Given the description of an element on the screen output the (x, y) to click on. 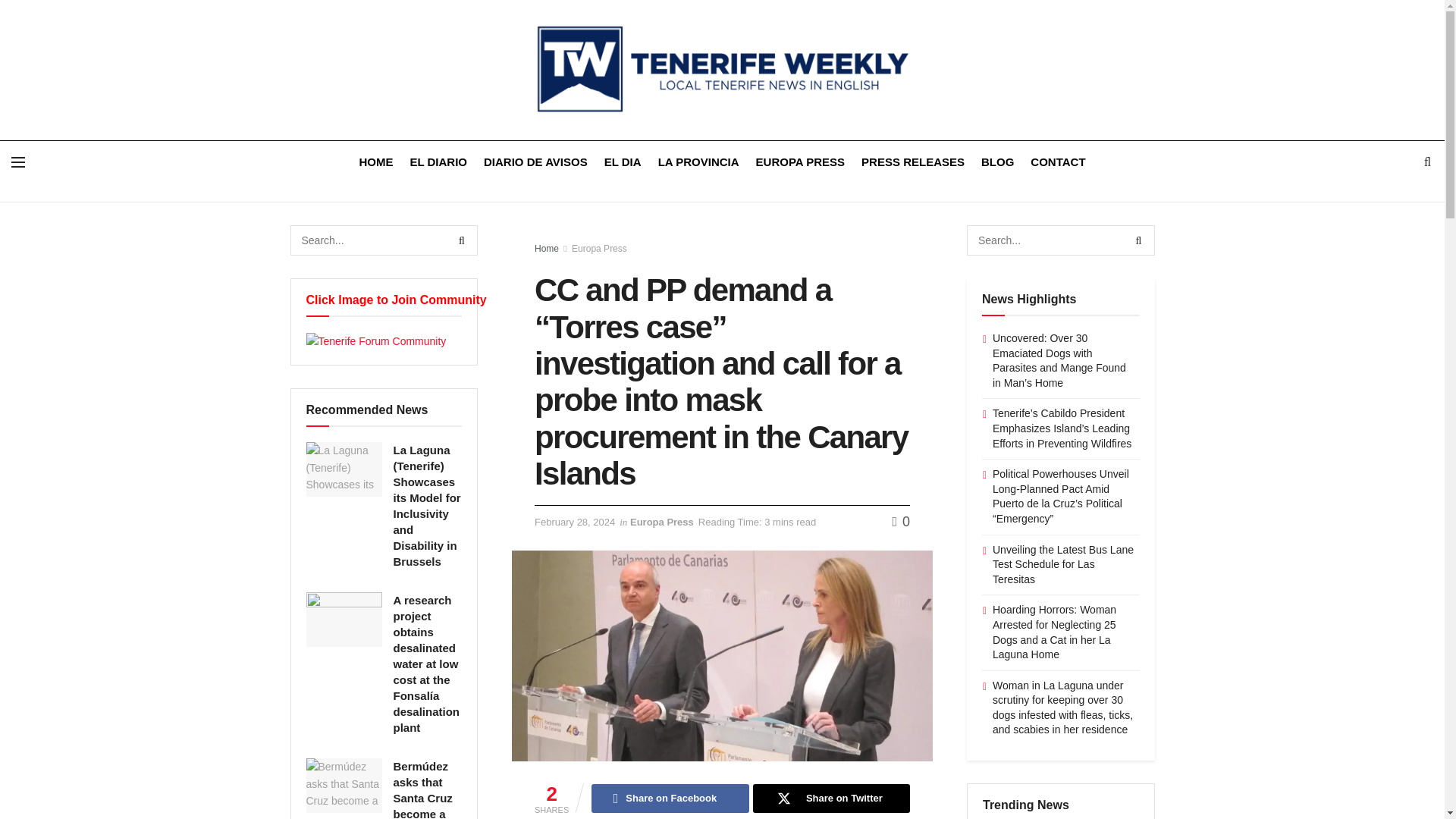
EL DIA (623, 161)
Home (546, 248)
0 (900, 521)
Europa Press (599, 248)
Share on Twitter (831, 798)
February 28, 2024 (574, 521)
EL DIARIO (438, 161)
Share on Facebook (669, 798)
Europa Press (662, 521)
PRESS RELEASES (912, 161)
CONTACT (1057, 161)
BLOG (997, 161)
LA PROVINCIA (698, 161)
EUROPA PRESS (800, 161)
HOME (375, 161)
